Given the description of an element on the screen output the (x, y) to click on. 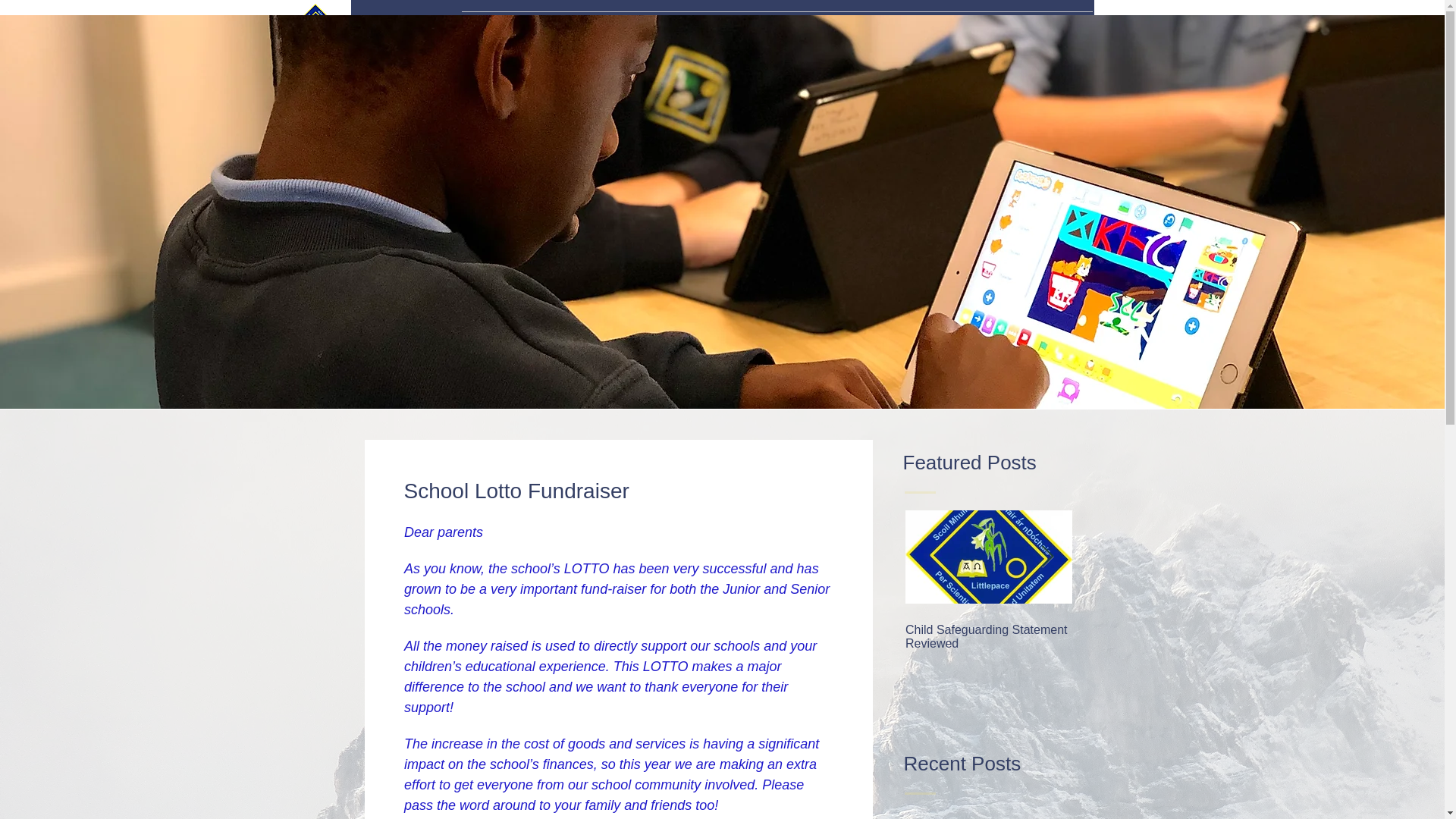
HOME (491, 30)
Evaluation of Inclusive Practices an (712, 30)
Class Blogs (922, 30)
Mary Mother of Hope SNS (402, 30)
